Given the description of an element on the screen output the (x, y) to click on. 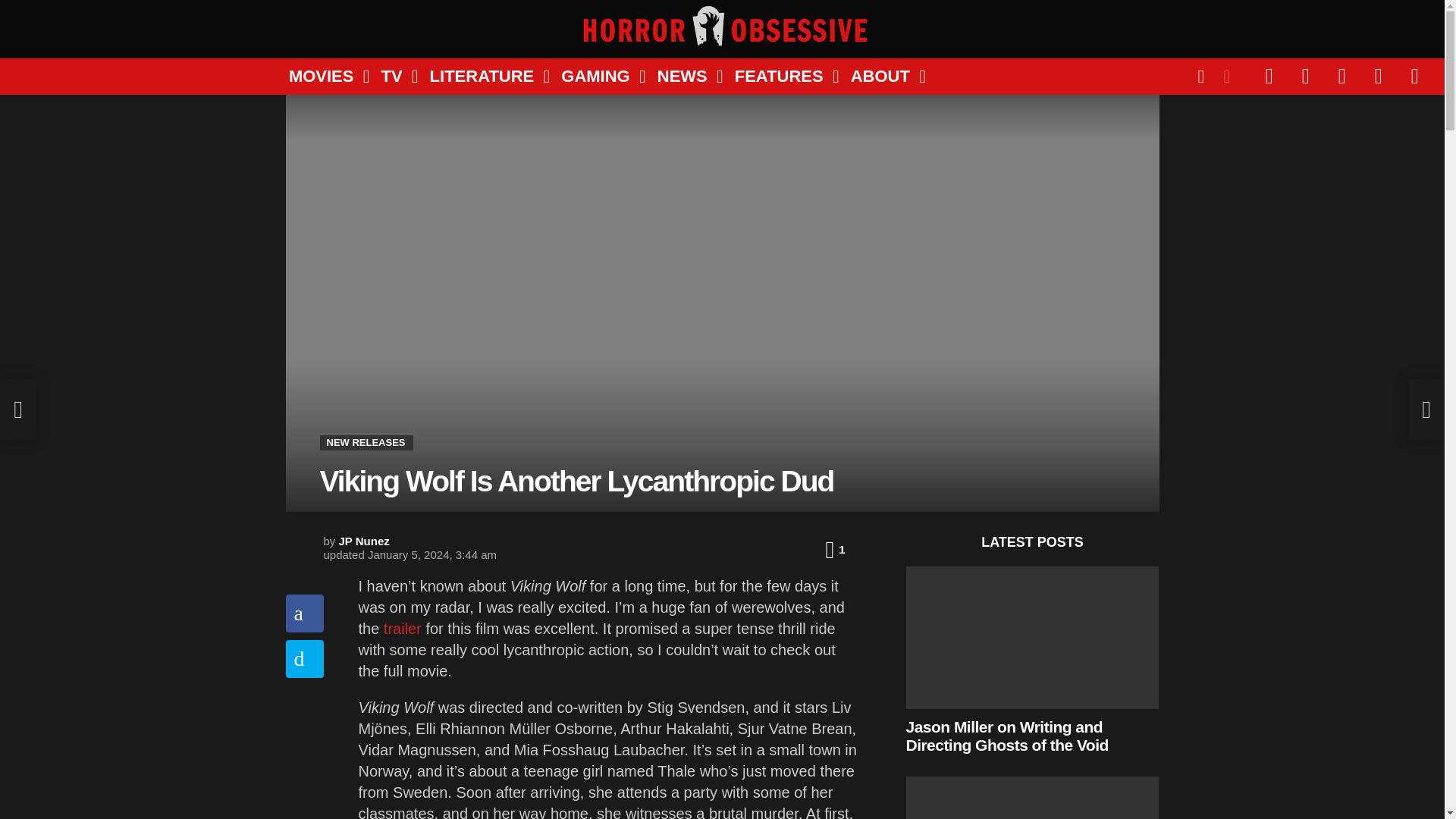
Posts by JP Nunez (364, 540)
Share on Facebook (304, 613)
TV (392, 76)
Share on Twitter (304, 658)
Jason Miller on Writing and Directing Ghosts of the Void (1031, 637)
Made in Your Image: Movie Review of The Craft: Legacy (1031, 797)
MOVIES (323, 76)
